Given the description of an element on the screen output the (x, y) to click on. 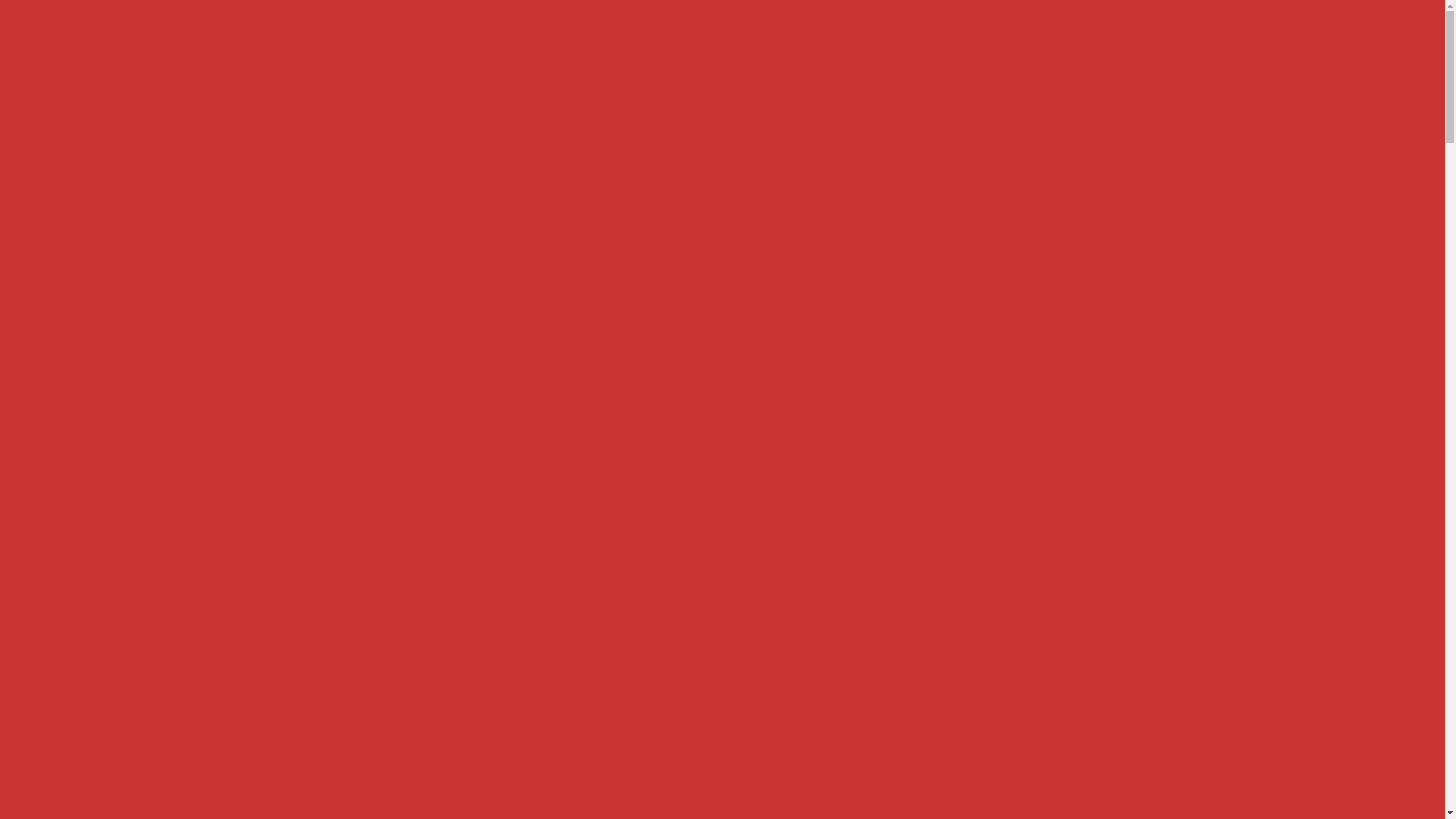
FNQESA Element type: text (319, 76)
CONTACT US Element type: text (1115, 38)
ABOUT Element type: text (1043, 38)
BENEFICIARY Element type: text (965, 38)
REGISTER YOUR INTEREST Element type: text (677, 38)
GALLERY Element type: text (785, 38)
SPONSORSHIP Element type: text (870, 38)
SPONSORSHIP TIERS Element type: text (395, 250)
Home Element type: text (306, 250)
